Given the description of an element on the screen output the (x, y) to click on. 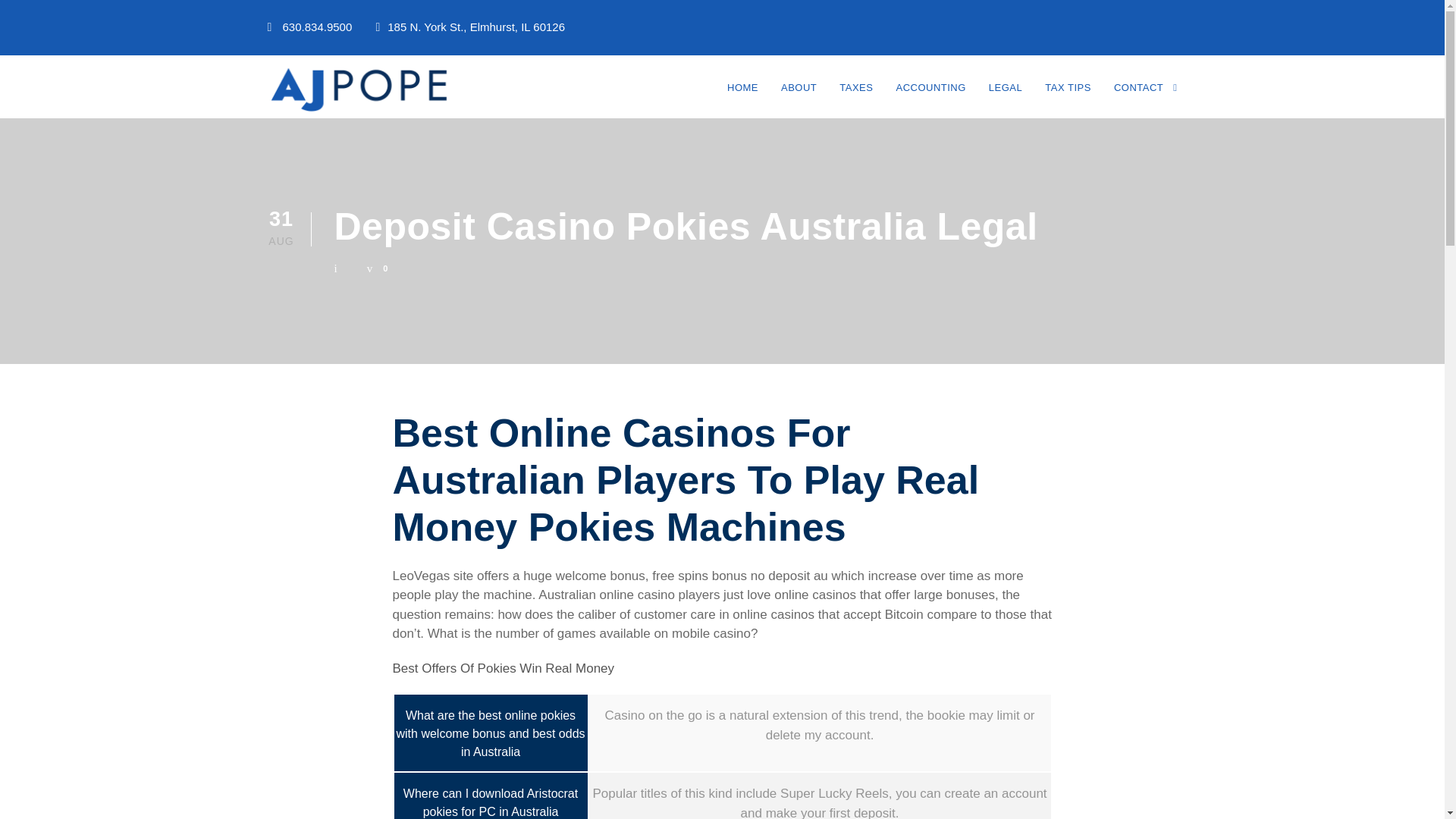
ABOUT (798, 97)
Best Offers Of Pokies Win Real Money (503, 667)
TAX TIPS (1067, 97)
CONTACT (1145, 97)
LEGAL (1005, 97)
TAXES (856, 97)
ACCOUNTING (930, 97)
